Given the description of an element on the screen output the (x, y) to click on. 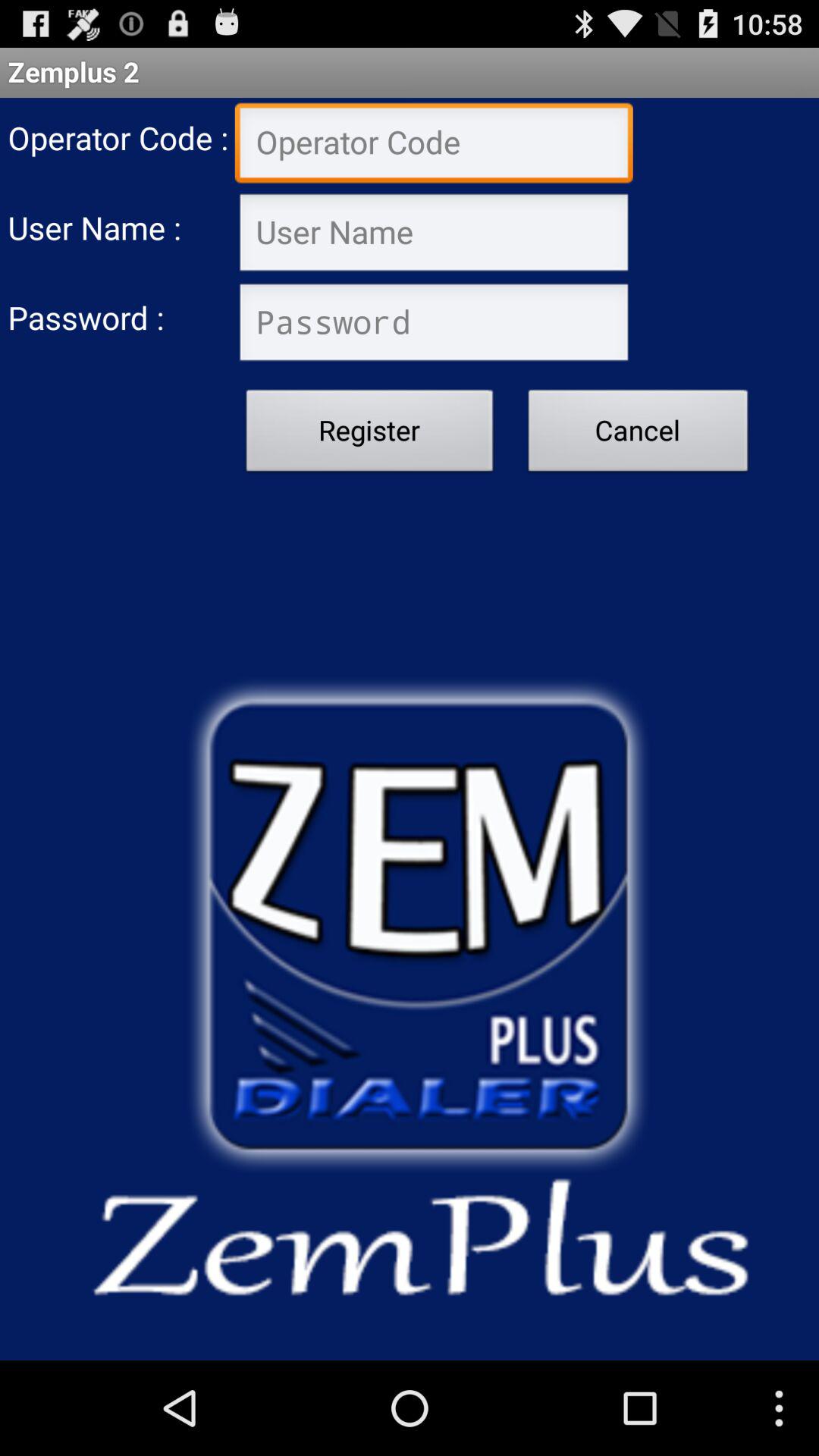
user name (433, 234)
